Given the description of an element on the screen output the (x, y) to click on. 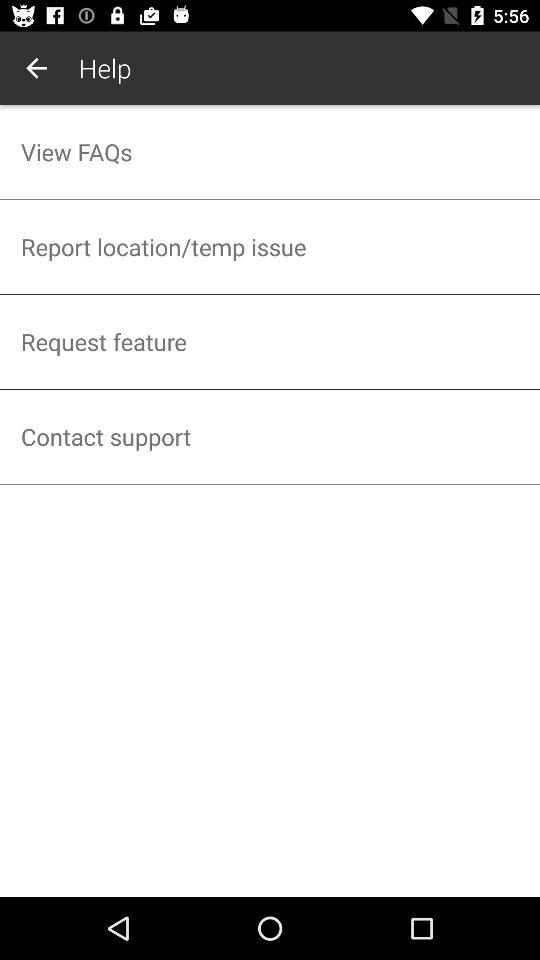
open item above the view faqs (36, 68)
